Given the description of an element on the screen output the (x, y) to click on. 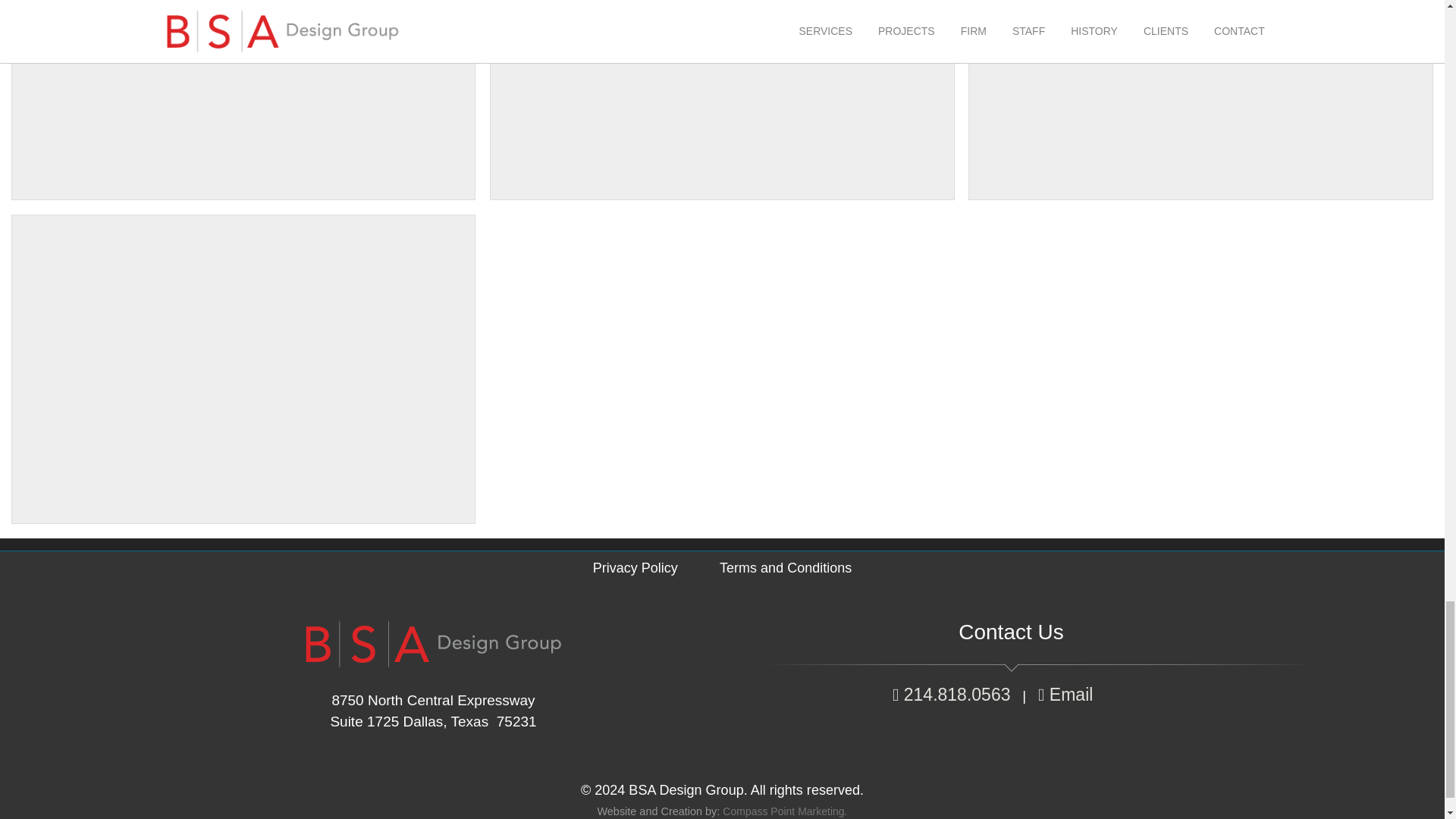
Email (1067, 694)
Compass Point Marketing. (784, 811)
Terms and Conditions (785, 567)
214.818.0563 (951, 694)
Privacy Policy (635, 567)
